Given the description of an element on the screen output the (x, y) to click on. 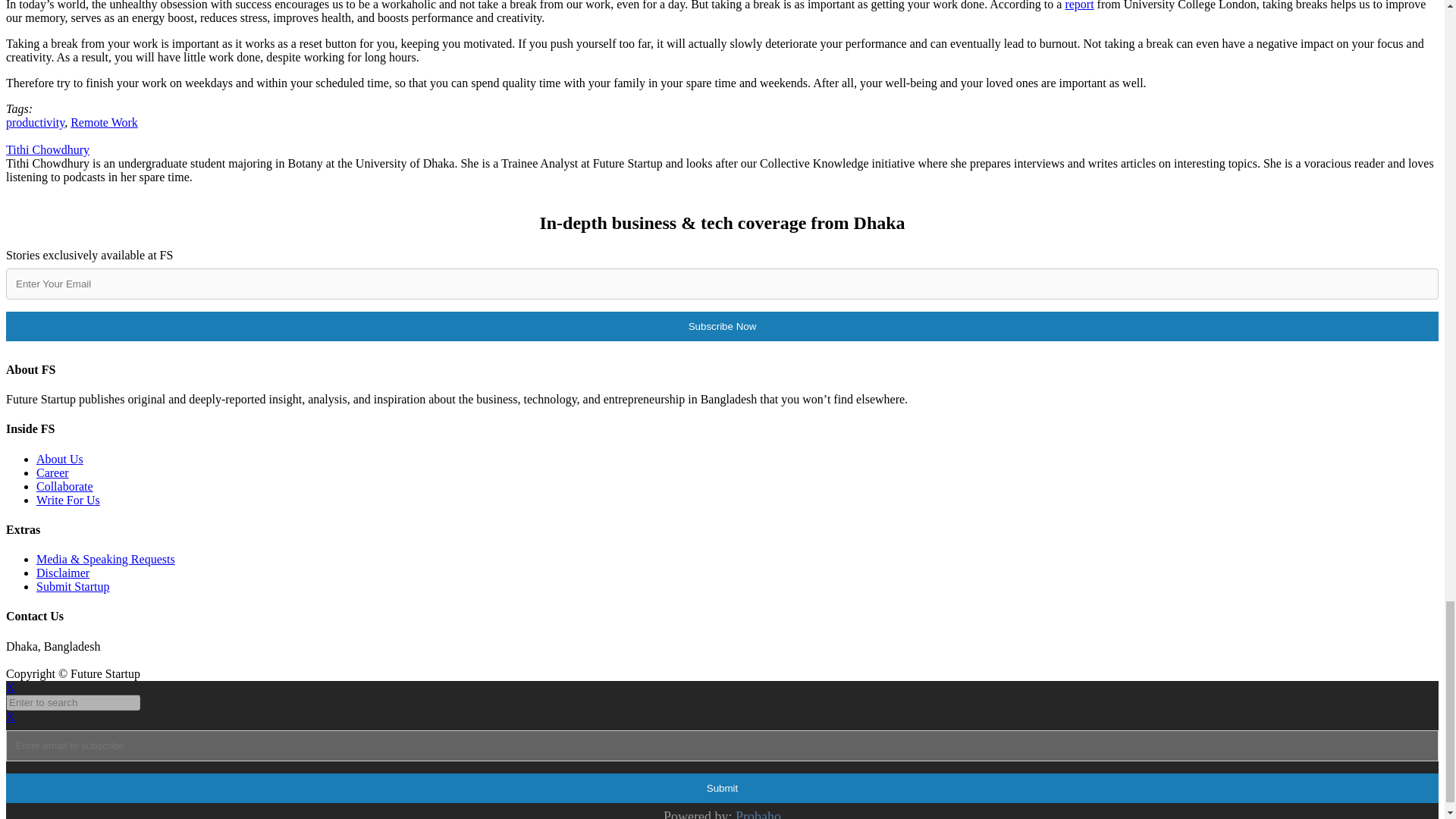
Career (52, 472)
Collaborate (64, 486)
Search for: (72, 702)
productivity (34, 122)
report (1078, 5)
Tithi Chowdhury (46, 149)
About Us (59, 459)
Remote Work (103, 122)
